Given the description of an element on the screen output the (x, y) to click on. 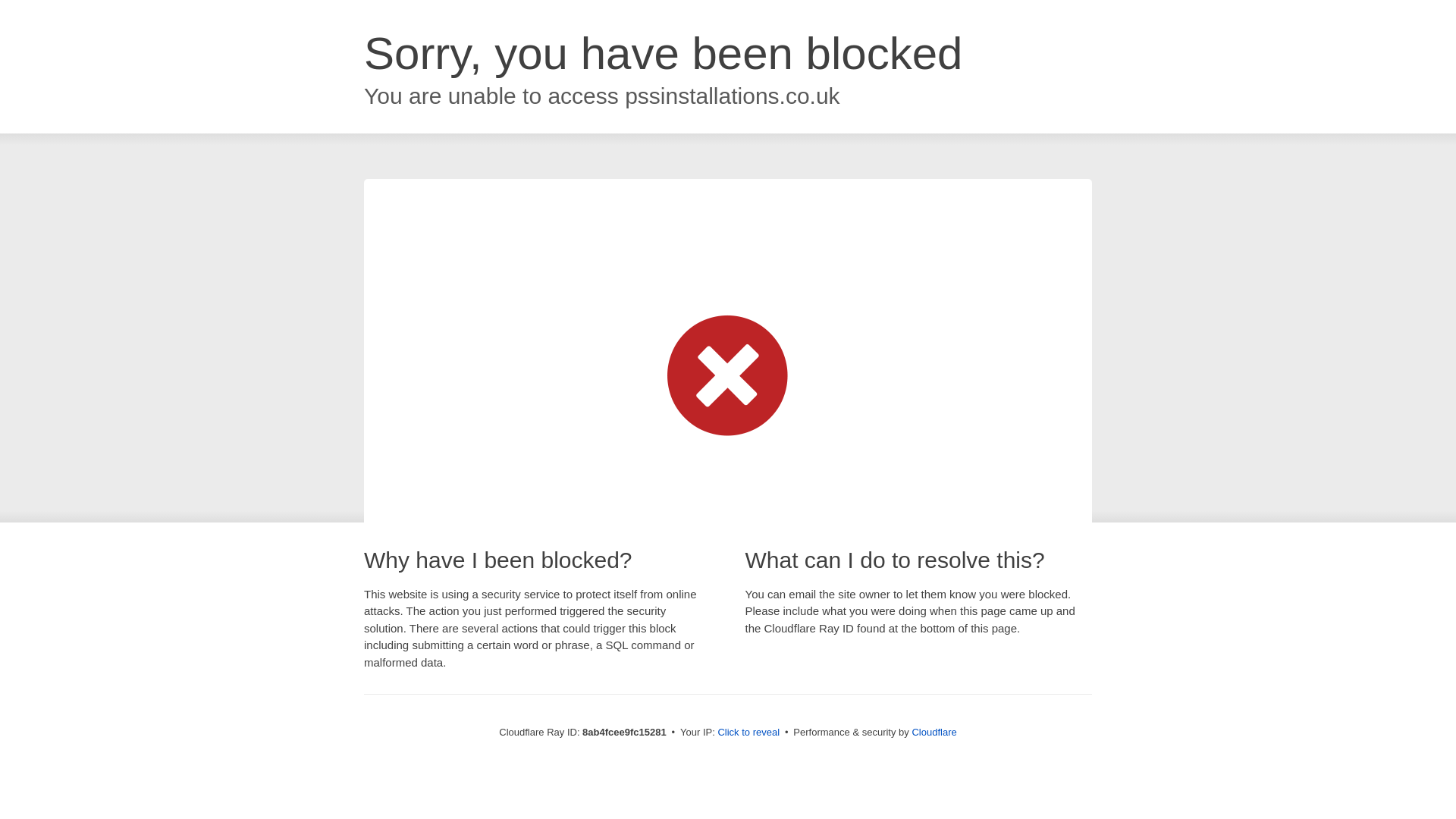
Click to reveal (747, 732)
Cloudflare (933, 731)
